Given the description of an element on the screen output the (x, y) to click on. 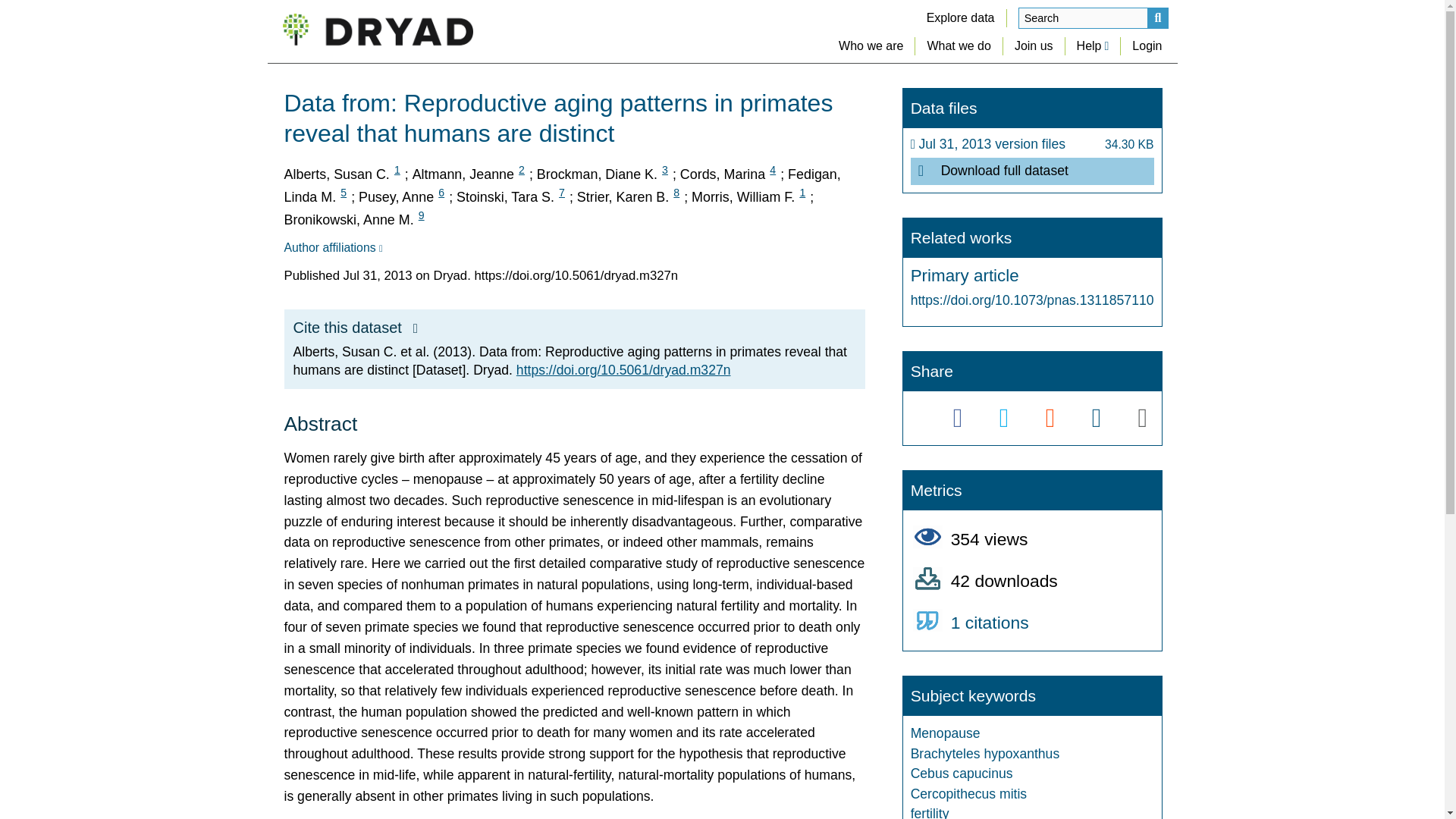
Who we are (870, 45)
Author affiliations (332, 248)
